Given the description of an element on the screen output the (x, y) to click on. 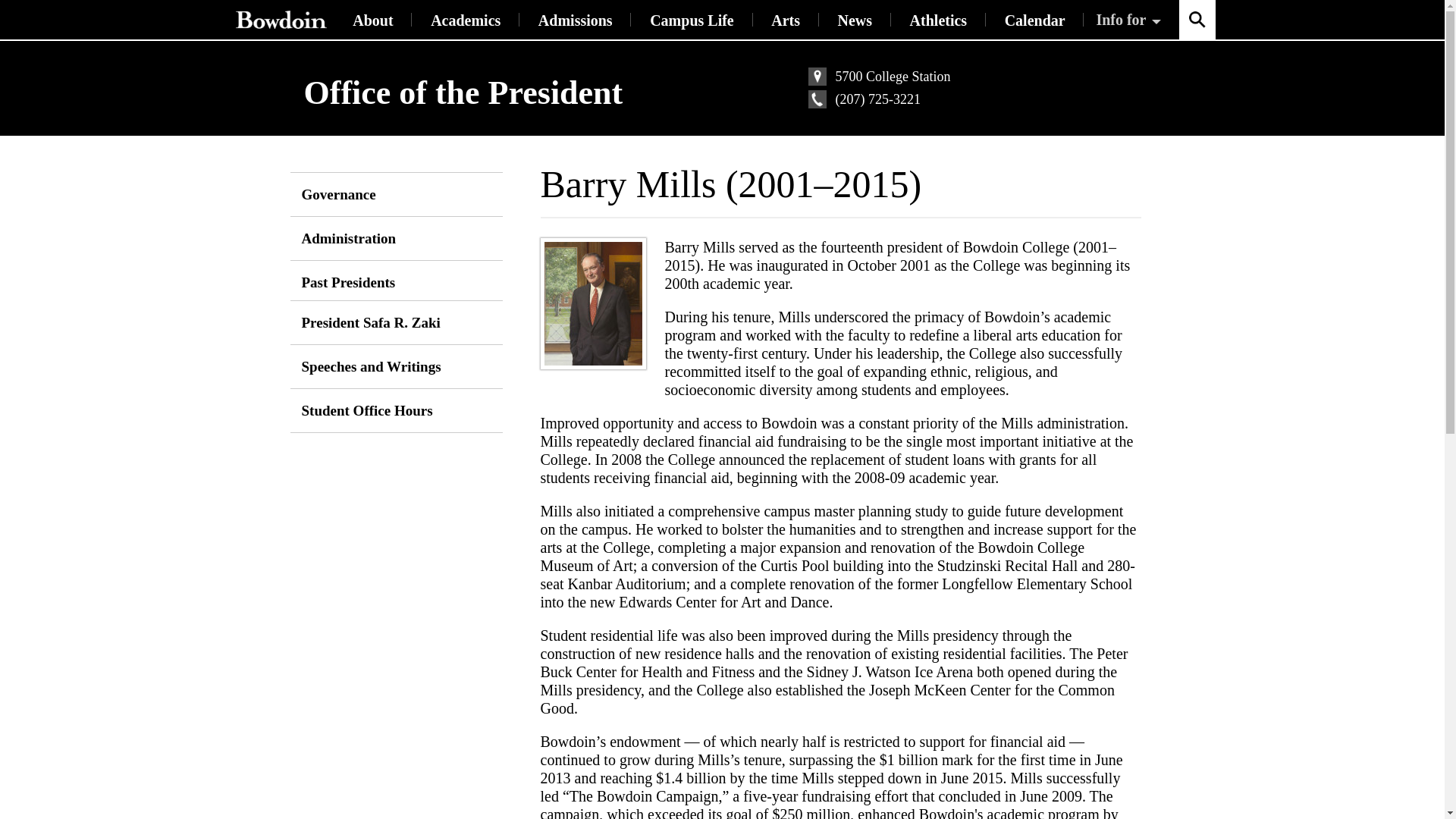
Governance (392, 194)
Admissions (574, 19)
Campus Life (691, 19)
About (372, 19)
Calendar (1034, 19)
Speeches and Writings (392, 366)
Search Bowdoin College (1195, 19)
Office of the President (462, 92)
Student Office Hours (392, 410)
President Safa R. Zaki (392, 322)
Administration (392, 238)
Information For (1129, 19)
Arts (785, 19)
Bowdoin College Home (279, 19)
News (854, 19)
